Given the description of an element on the screen output the (x, y) to click on. 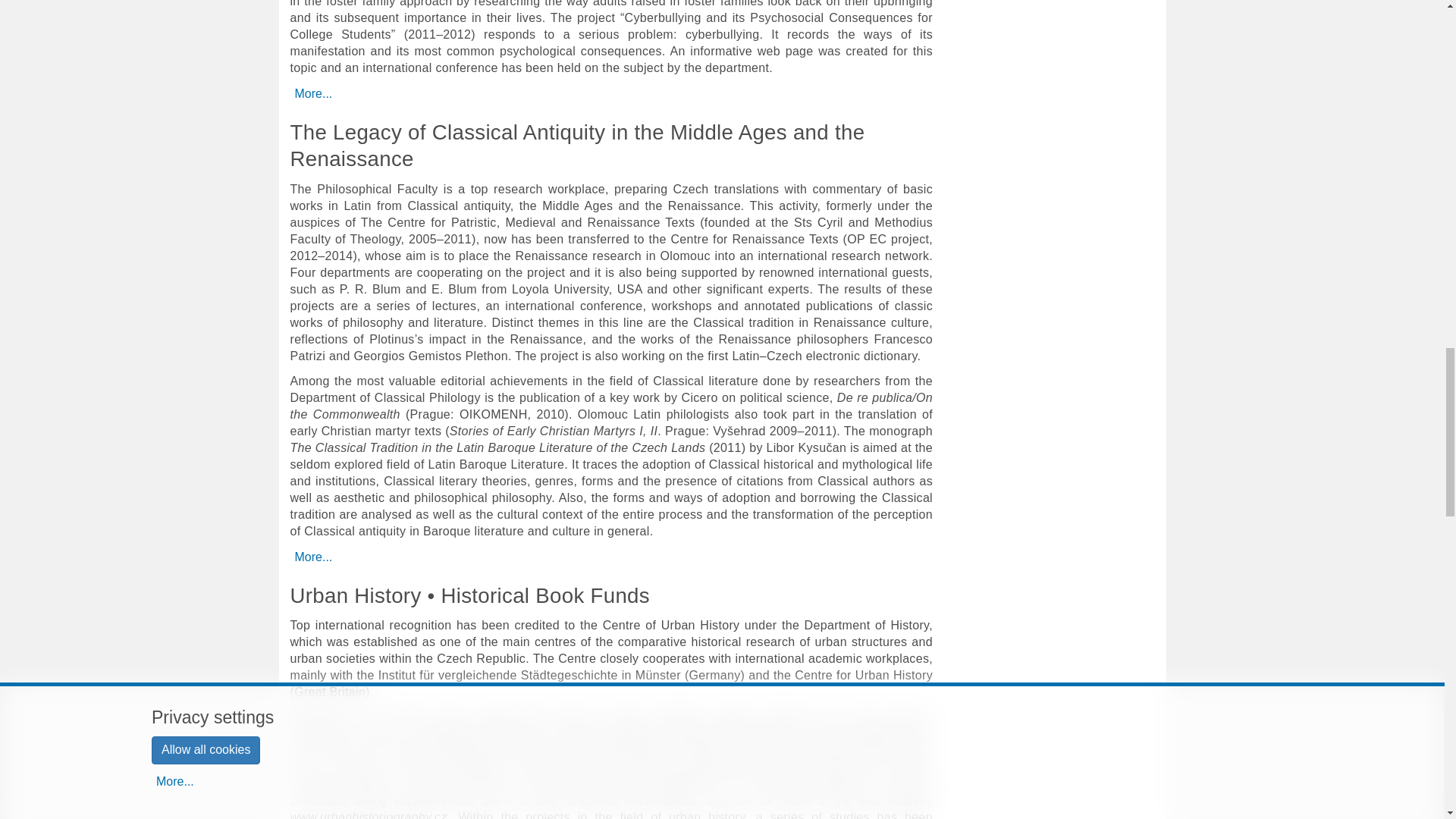
More... (312, 556)
More... (312, 94)
